Given the description of an element on the screen output the (x, y) to click on. 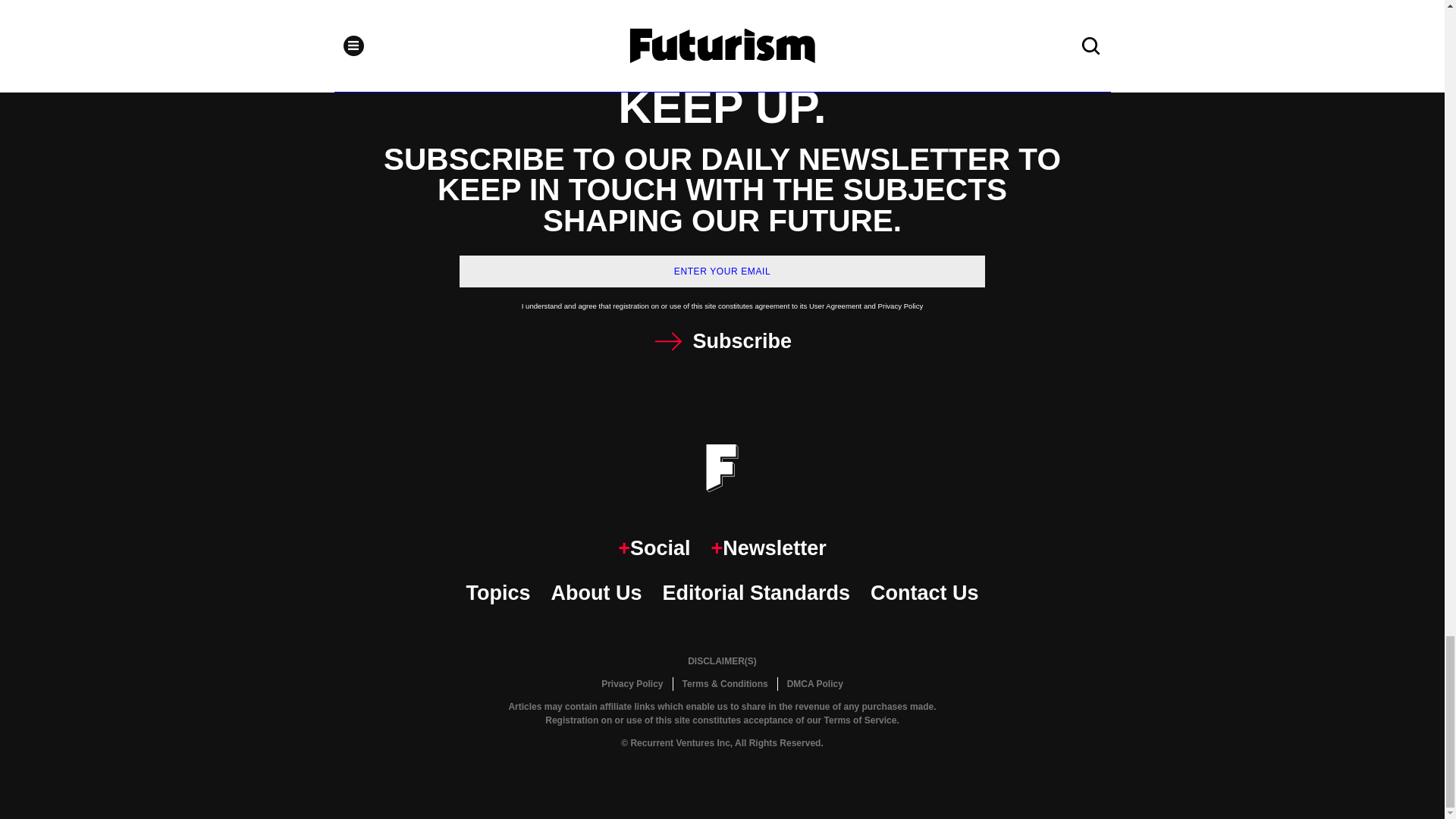
Privacy Policy (631, 684)
About Us (596, 593)
Topics (497, 593)
Subscribe (722, 341)
DMCA Policy (814, 684)
Contact Us (924, 593)
Editorial Standards (756, 593)
